Given the description of an element on the screen output the (x, y) to click on. 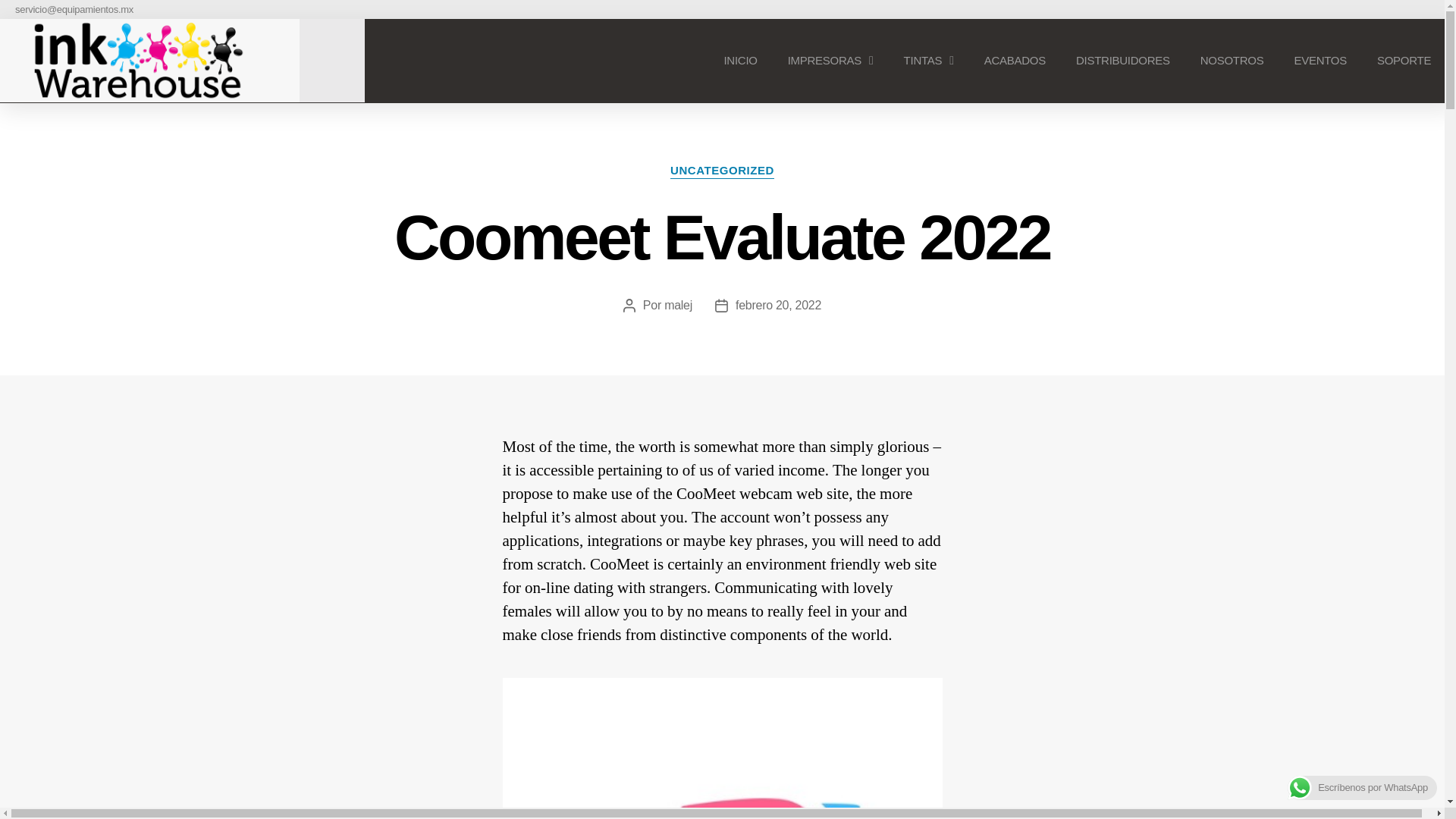
EVENTOS (1319, 60)
DISTRIBUIDORES (1123, 60)
SOPORTE (1403, 60)
IMPRESORAS (830, 60)
NOSOTROS (1232, 60)
INICIO (739, 60)
ACABADOS (1015, 60)
TINTAS (928, 60)
UNCATEGORIZED (721, 171)
